Given the description of an element on the screen output the (x, y) to click on. 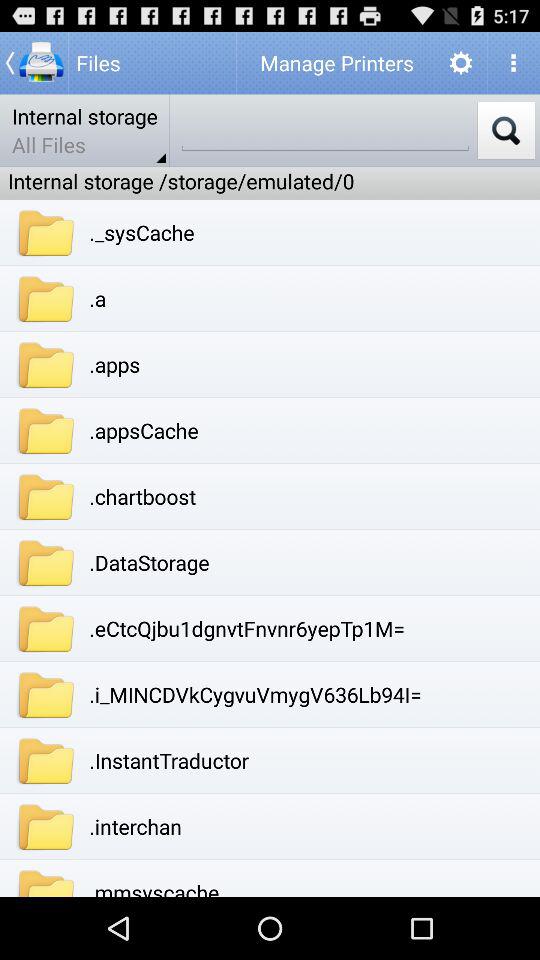
flip to .instanttraductor (168, 760)
